Given the description of an element on the screen output the (x, y) to click on. 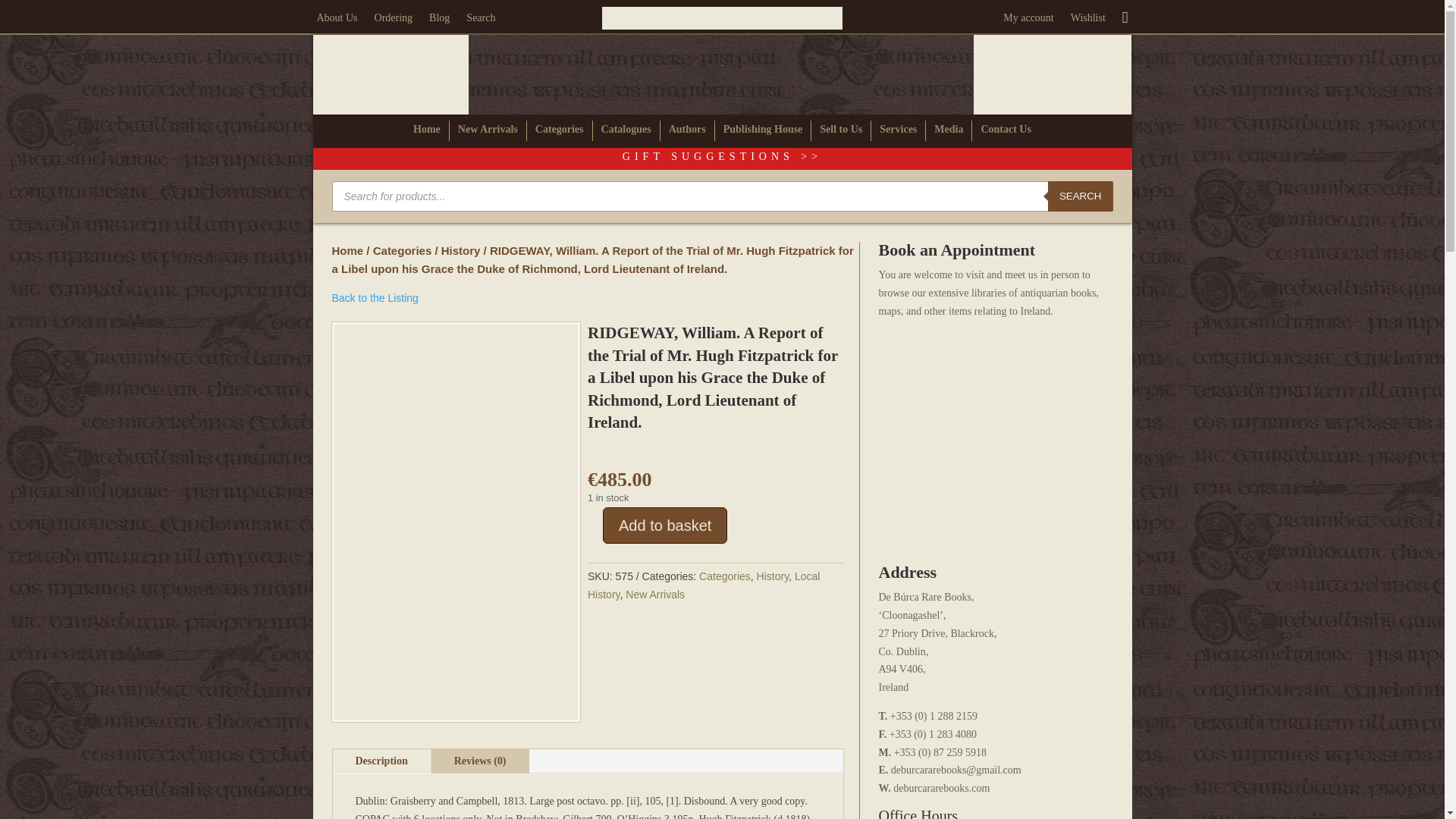
Google-Reviews-DeBurca-WEB-02-93-reviews (722, 17)
My account (1027, 21)
Search (480, 21)
Ordering (393, 21)
Blog (439, 21)
Publishing House (763, 132)
Catalogues (625, 132)
New Arrivals (488, 132)
Media (948, 132)
About Us (337, 21)
De-Burca-Rare-Books-Pattern-Left-small (390, 74)
Sell to Us (840, 132)
Gift Suggestions (722, 156)
Authors (687, 132)
Wishlist (1087, 21)
